Given the description of an element on the screen output the (x, y) to click on. 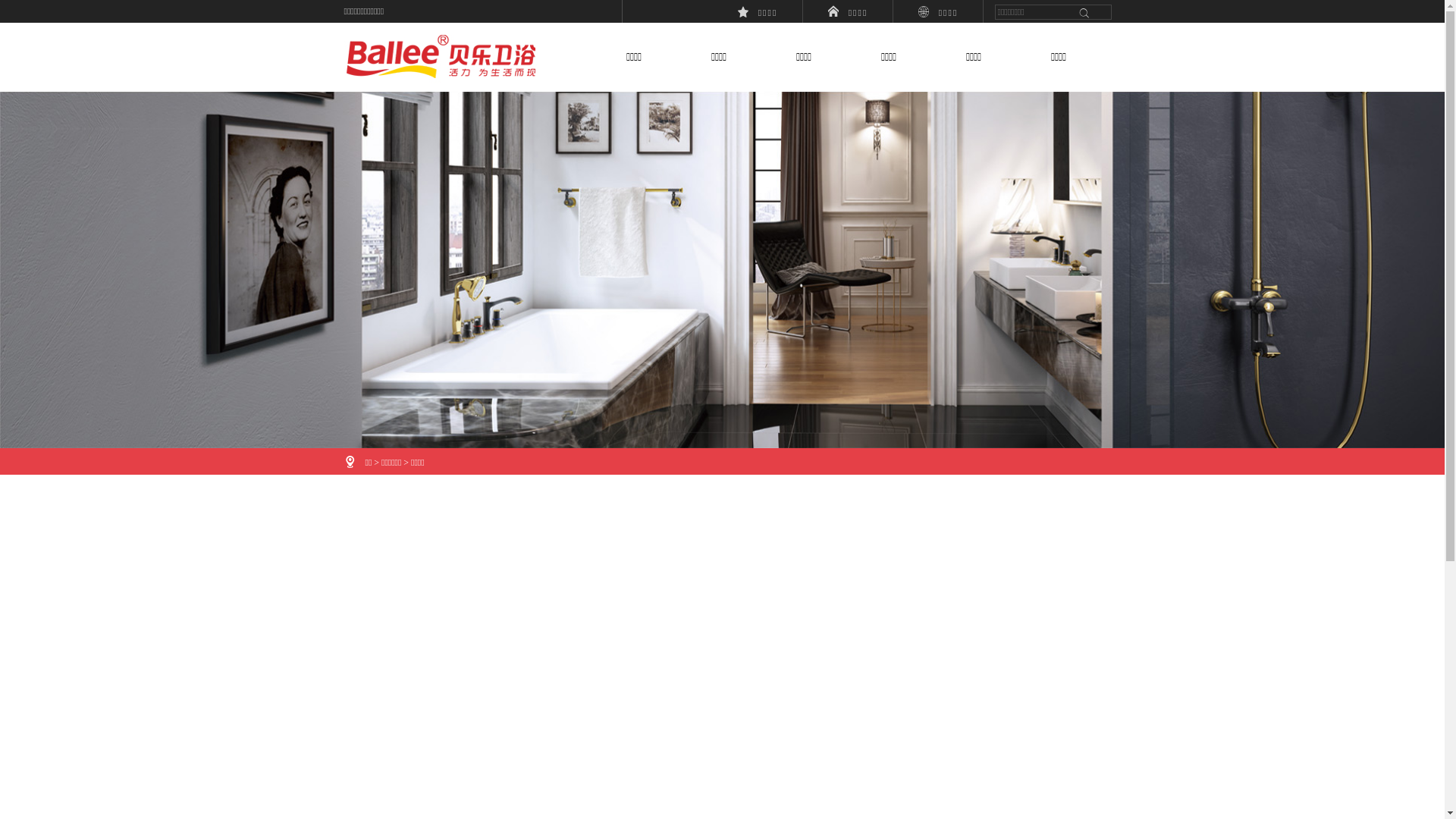
a Element type: text (1083, 11)
